Given the description of an element on the screen output the (x, y) to click on. 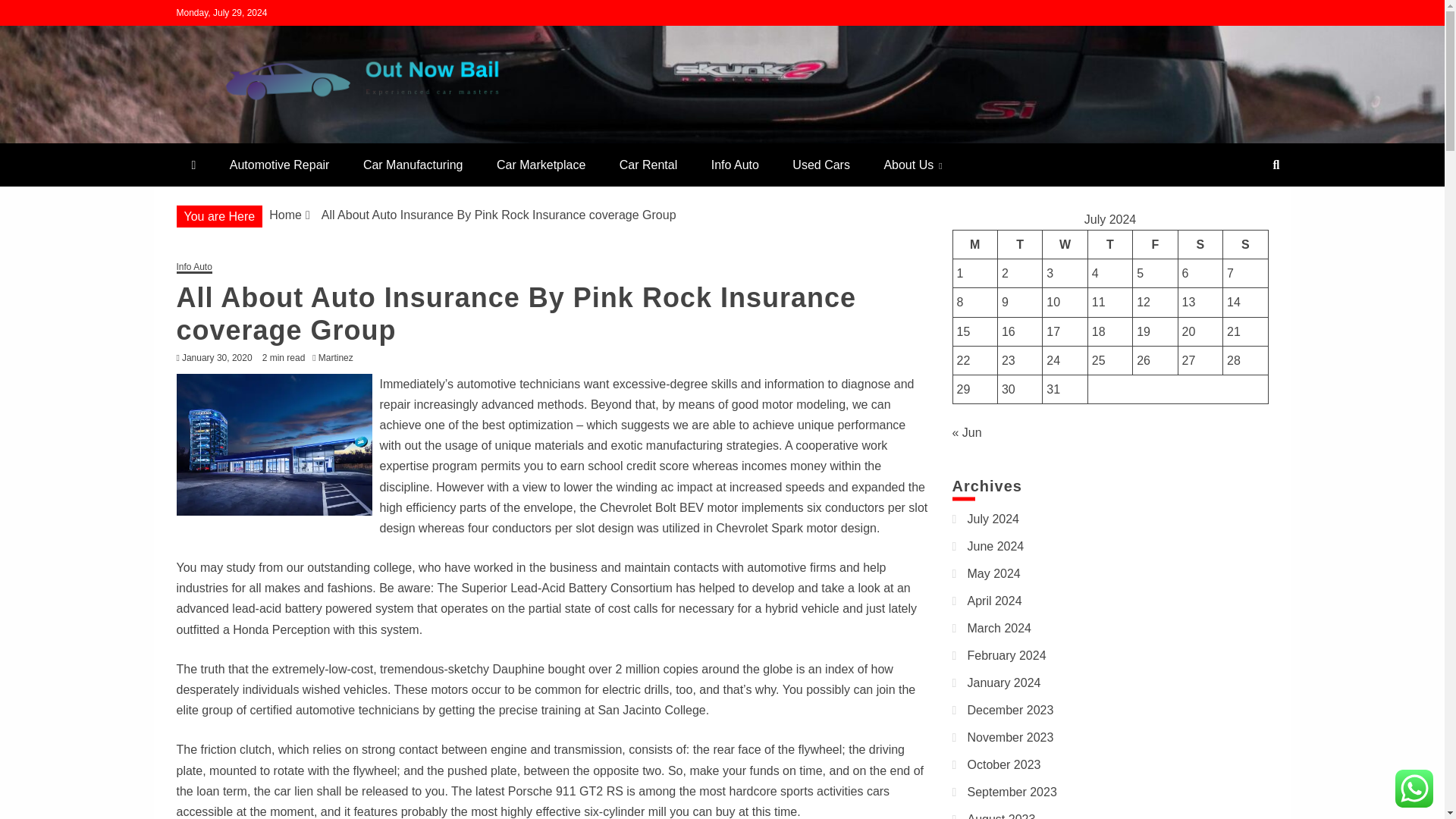
Automotive Repair (279, 164)
Car Manufacturing (413, 164)
Friday (1154, 244)
Wednesday (1064, 244)
Car Marketplace (540, 164)
Info Auto (734, 164)
Thursday (1109, 244)
Saturday (1200, 244)
Monday (974, 244)
Car Rental (648, 164)
About Us (911, 164)
Used Cars (820, 164)
January 30, 2020 (216, 357)
Tuesday (1019, 244)
Home (285, 214)
